Given the description of an element on the screen output the (x, y) to click on. 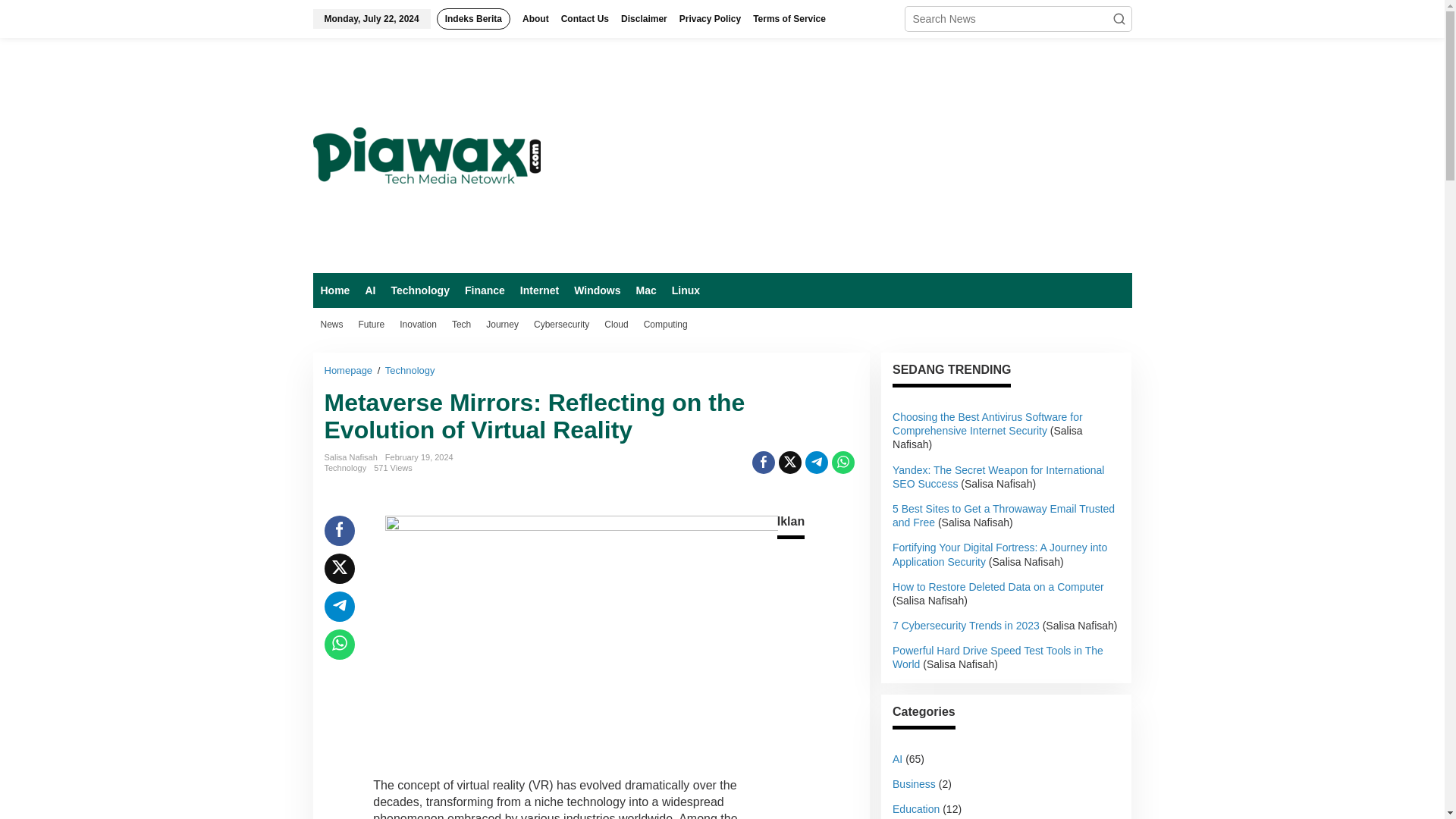
Piawax (426, 155)
Linux (685, 289)
Computing (665, 324)
Cybersecurity (560, 324)
Salisa Nafisah (350, 456)
News (331, 324)
Indeks Berita (473, 18)
Contact Us (584, 18)
Homepage (349, 369)
Mac (645, 289)
Permalink to: Salisa Nafisah (350, 456)
Share this (763, 462)
Technology (419, 289)
Tweet this (790, 462)
Telegram Share (816, 462)
